Given the description of an element on the screen output the (x, y) to click on. 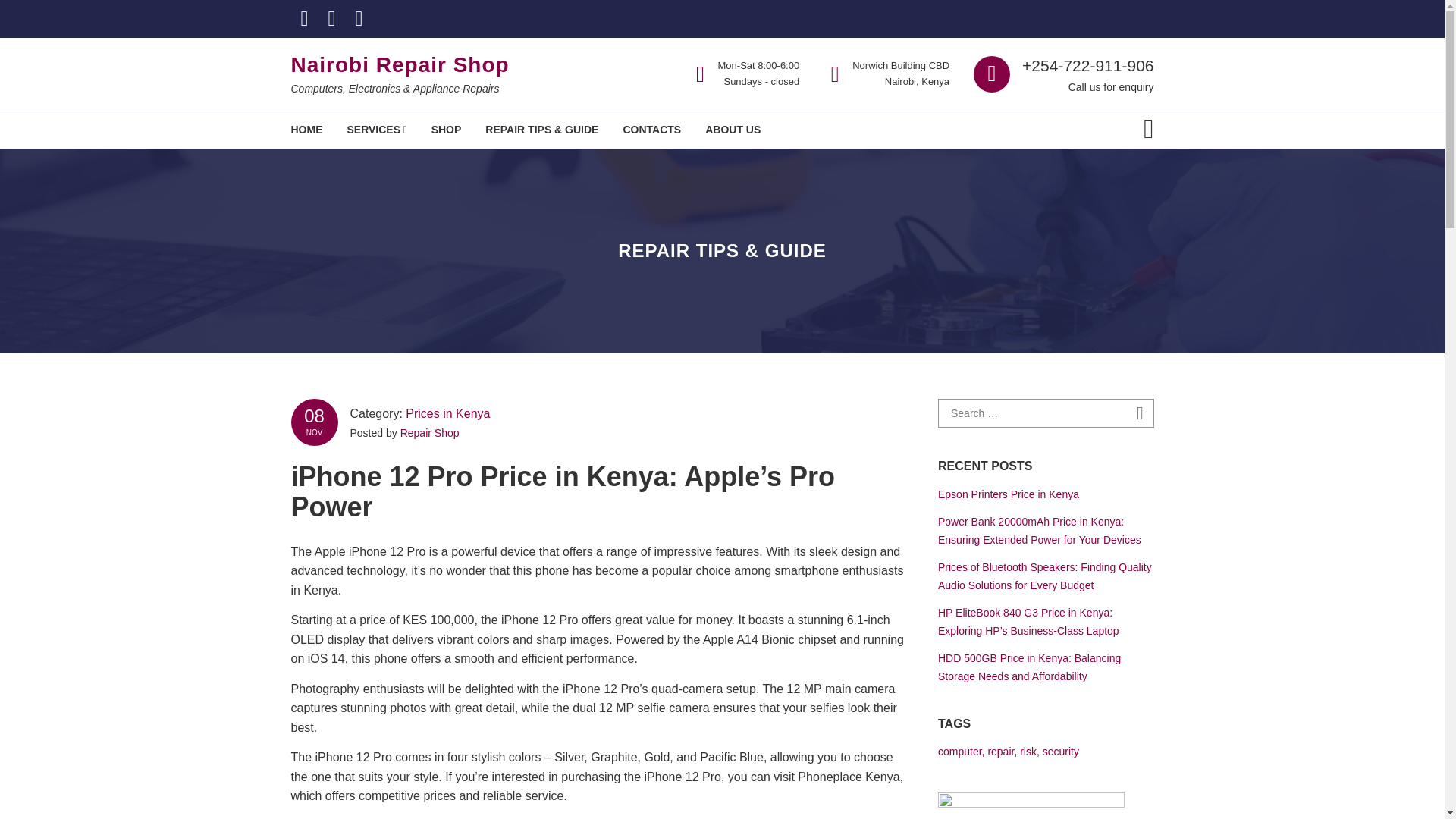
Prices in Kenya (447, 413)
HOME (306, 129)
SERVICES (376, 129)
ABOUT US (733, 129)
CONTACTS (651, 129)
Nairobi Repair Shop (400, 64)
SHOP (446, 129)
Repair Shop (430, 432)
Posts by Repair Shop (430, 432)
